Given the description of an element on the screen output the (x, y) to click on. 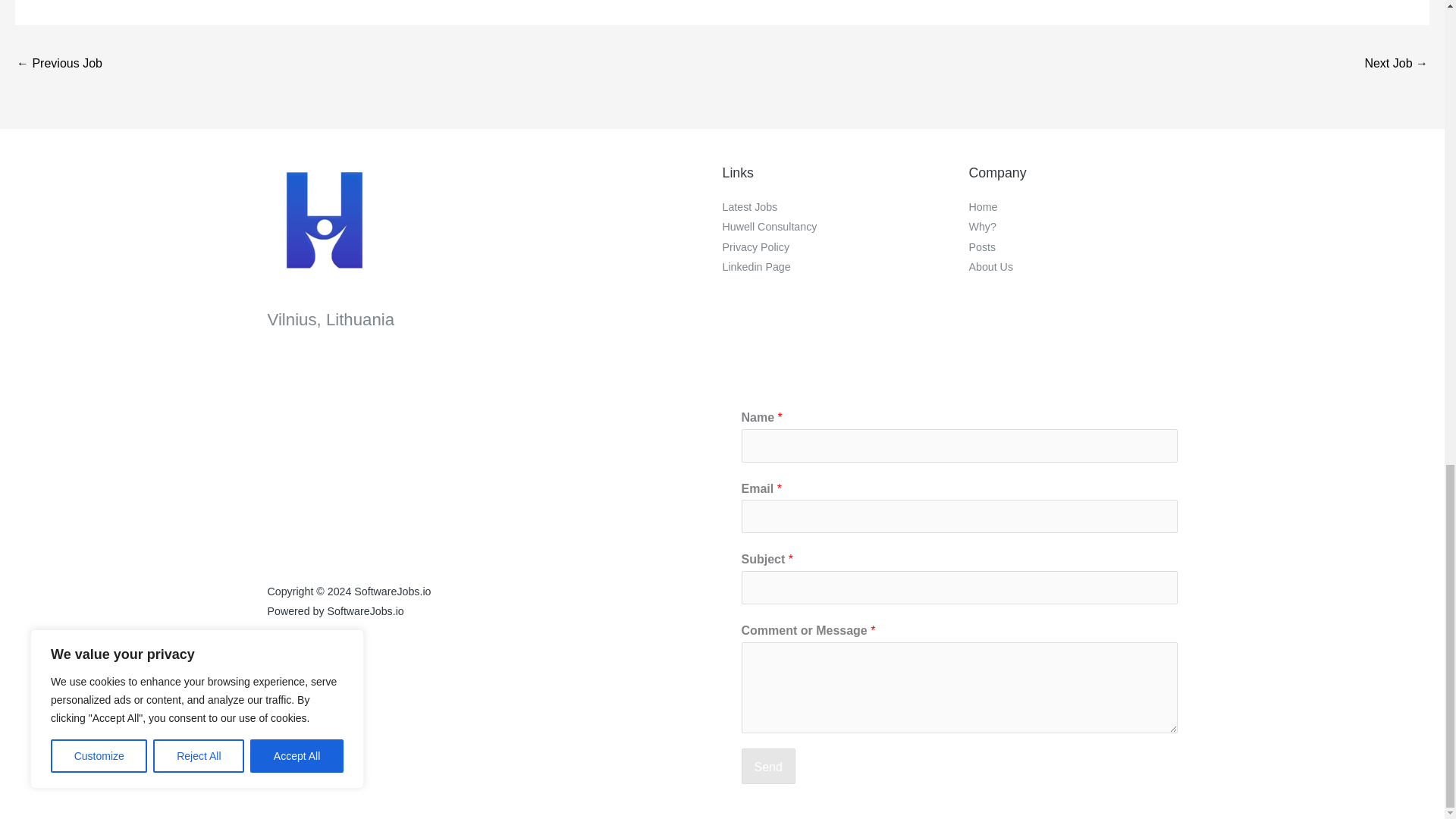
Posts (982, 246)
Latest Jobs (749, 206)
Huwell Consultancy (769, 226)
Linkedin Page (756, 266)
Home (983, 206)
Privacy Policy (755, 246)
Why? (982, 226)
